Given the description of an element on the screen output the (x, y) to click on. 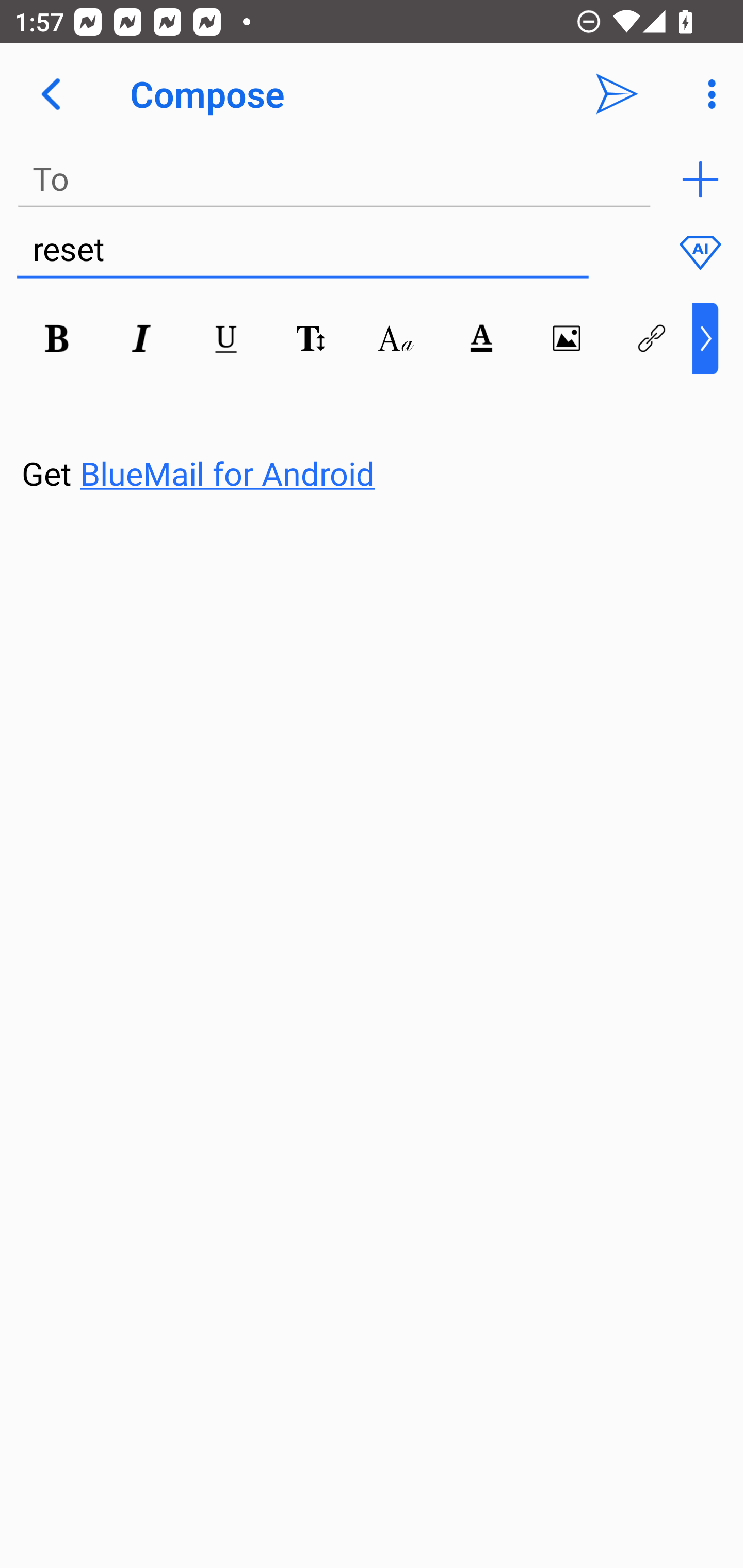
Navigate up (50, 93)
Send (616, 93)
More Options (706, 93)
To (334, 179)
Add recipient (To) (699, 179)
reset (302, 249)


⁣Get BlueMail for Android ​ (355, 435)
